Given the description of an element on the screen output the (x, y) to click on. 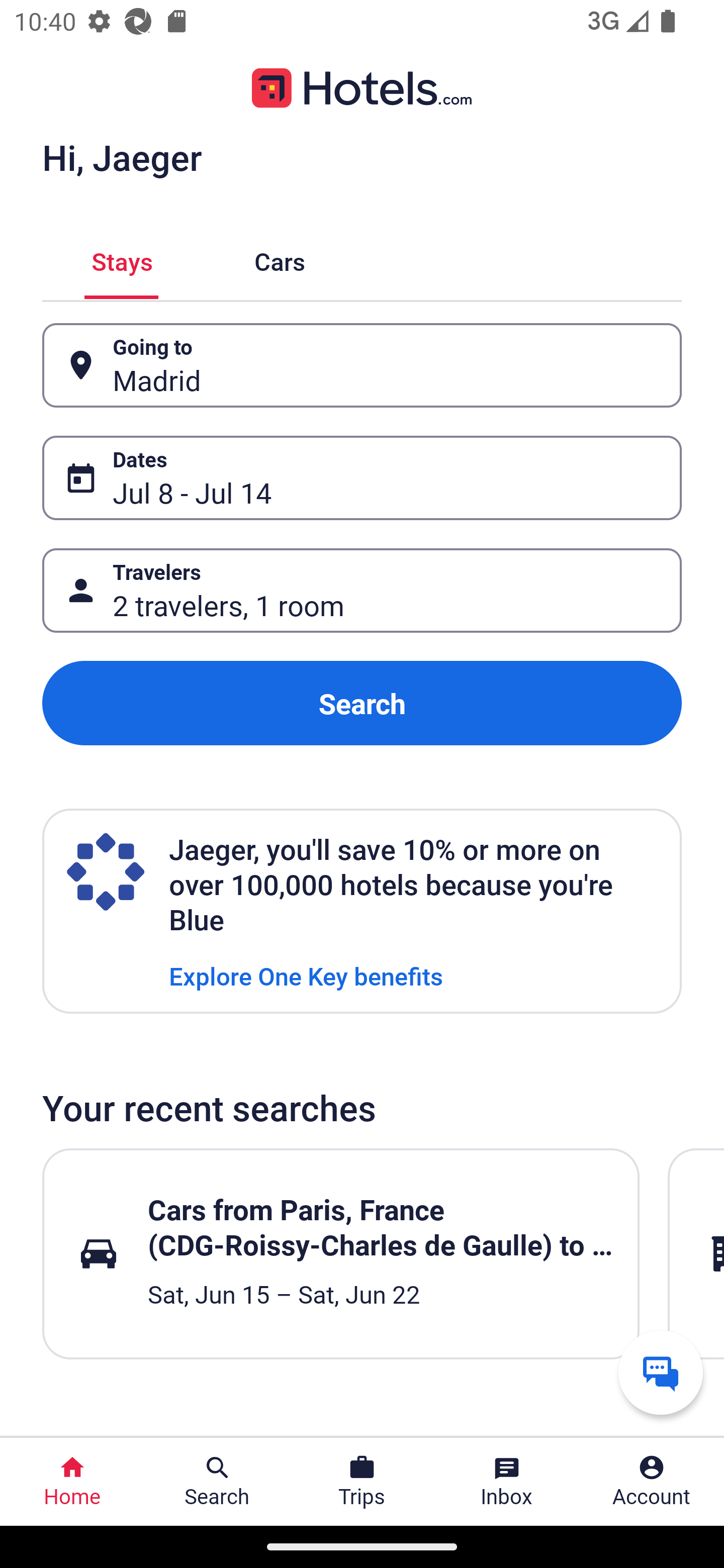
Hi, Jaeger (121, 156)
Cars (279, 259)
Going to Button Madrid (361, 365)
Dates Button Jul 8 - Jul 14 (361, 477)
Travelers Button 2 travelers, 1 room (361, 590)
Search (361, 702)
Get help from a virtual agent (660, 1371)
Search Search Button (216, 1481)
Trips Trips Button (361, 1481)
Inbox Inbox Button (506, 1481)
Account Profile. Button (651, 1481)
